Given the description of an element on the screen output the (x, y) to click on. 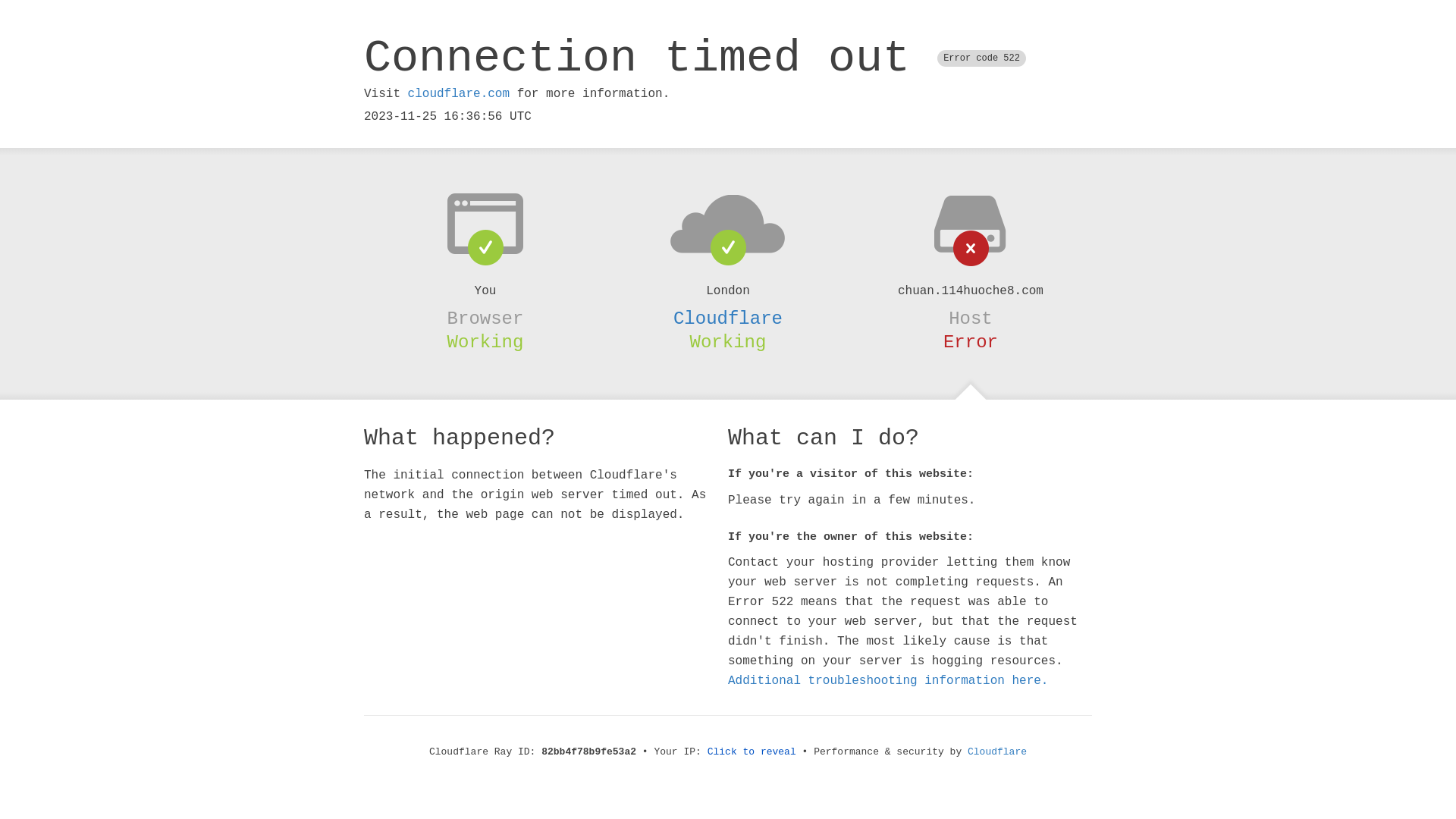
Click to reveal Element type: text (751, 751)
Cloudflare Element type: text (727, 318)
Cloudflare Element type: text (996, 751)
cloudflare.com Element type: text (458, 93)
Additional troubleshooting information here. Element type: text (888, 680)
